Given the description of an element on the screen output the (x, y) to click on. 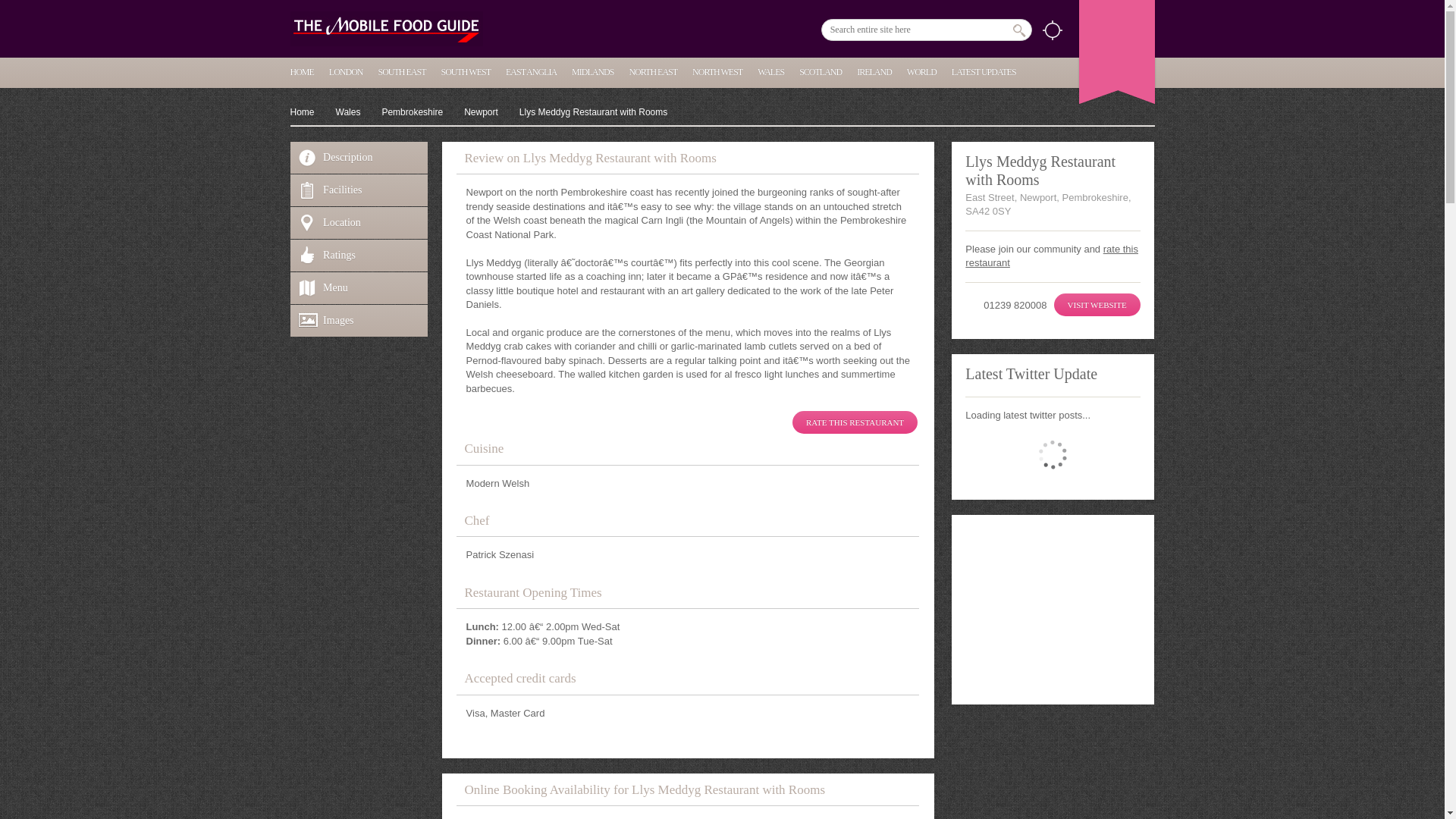
Please join our community and rate this restaurant. (854, 422)
EAST ANGLIA (530, 71)
Location (358, 223)
Description (358, 157)
The Mobile Food Guide - Home (385, 28)
SOUTH EAST (402, 71)
MIDLANDS (592, 71)
Images (358, 320)
Menu (358, 287)
Reviews and Ratings (358, 255)
